Given the description of an element on the screen output the (x, y) to click on. 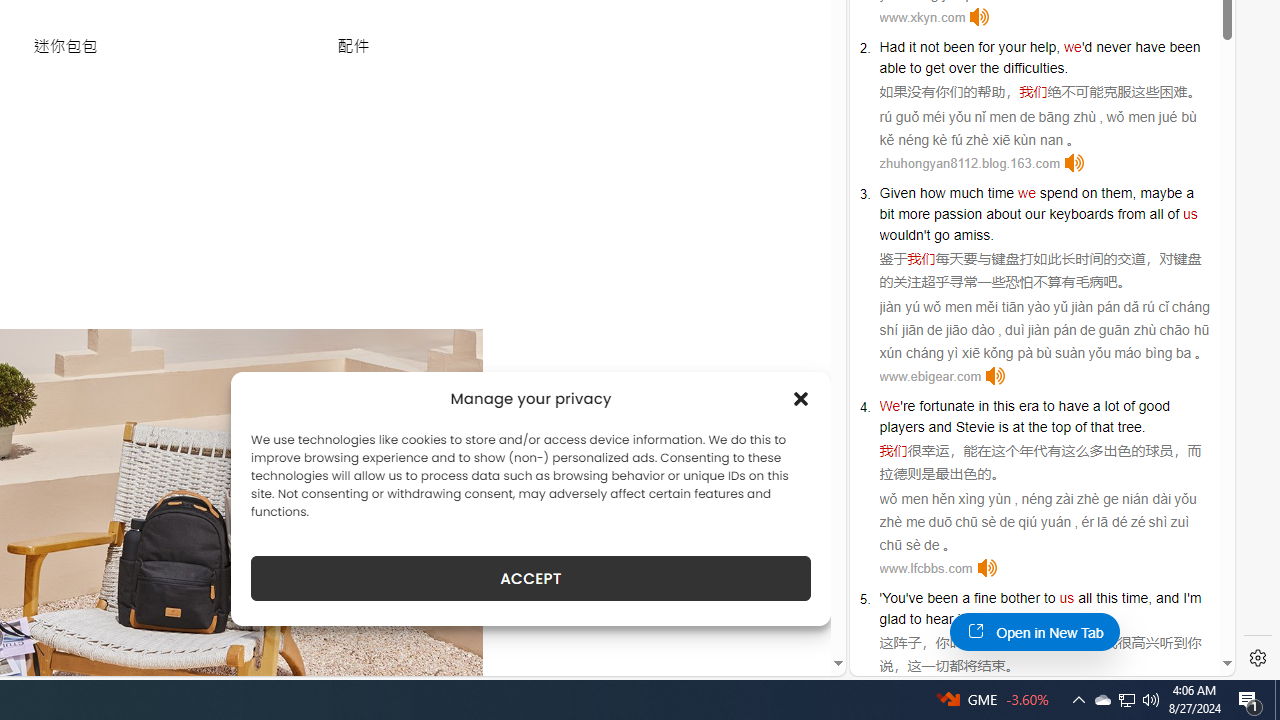
is (1003, 426)
to (1048, 405)
era (1028, 405)
in (983, 405)
hear (939, 619)
good (1153, 405)
players (902, 426)
time (1000, 192)
